Given the description of an element on the screen output the (x, y) to click on. 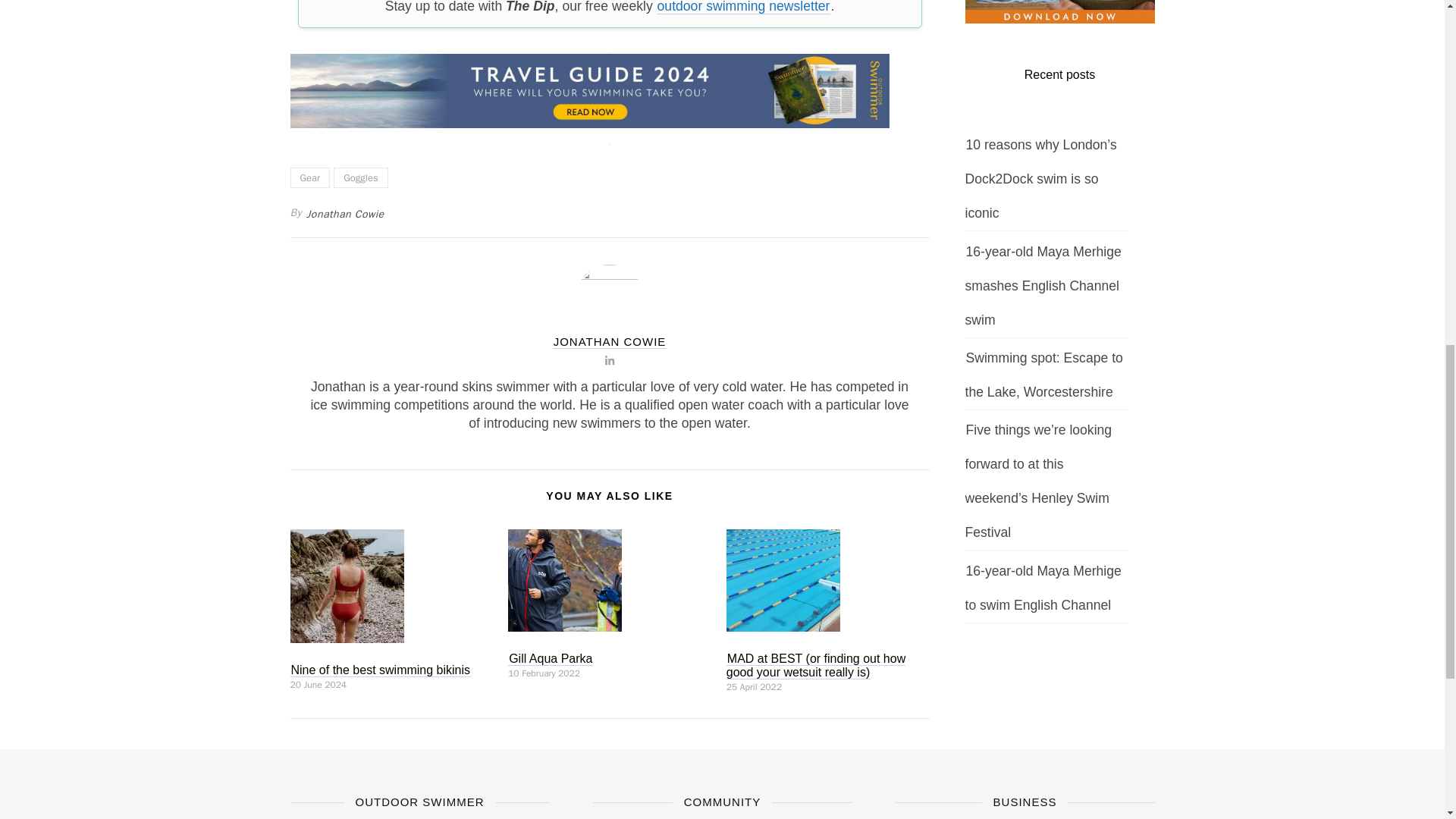
Posts by Jonathan Cowie (345, 213)
Posts by Jonathan Cowie (609, 340)
